Given the description of an element on the screen output the (x, y) to click on. 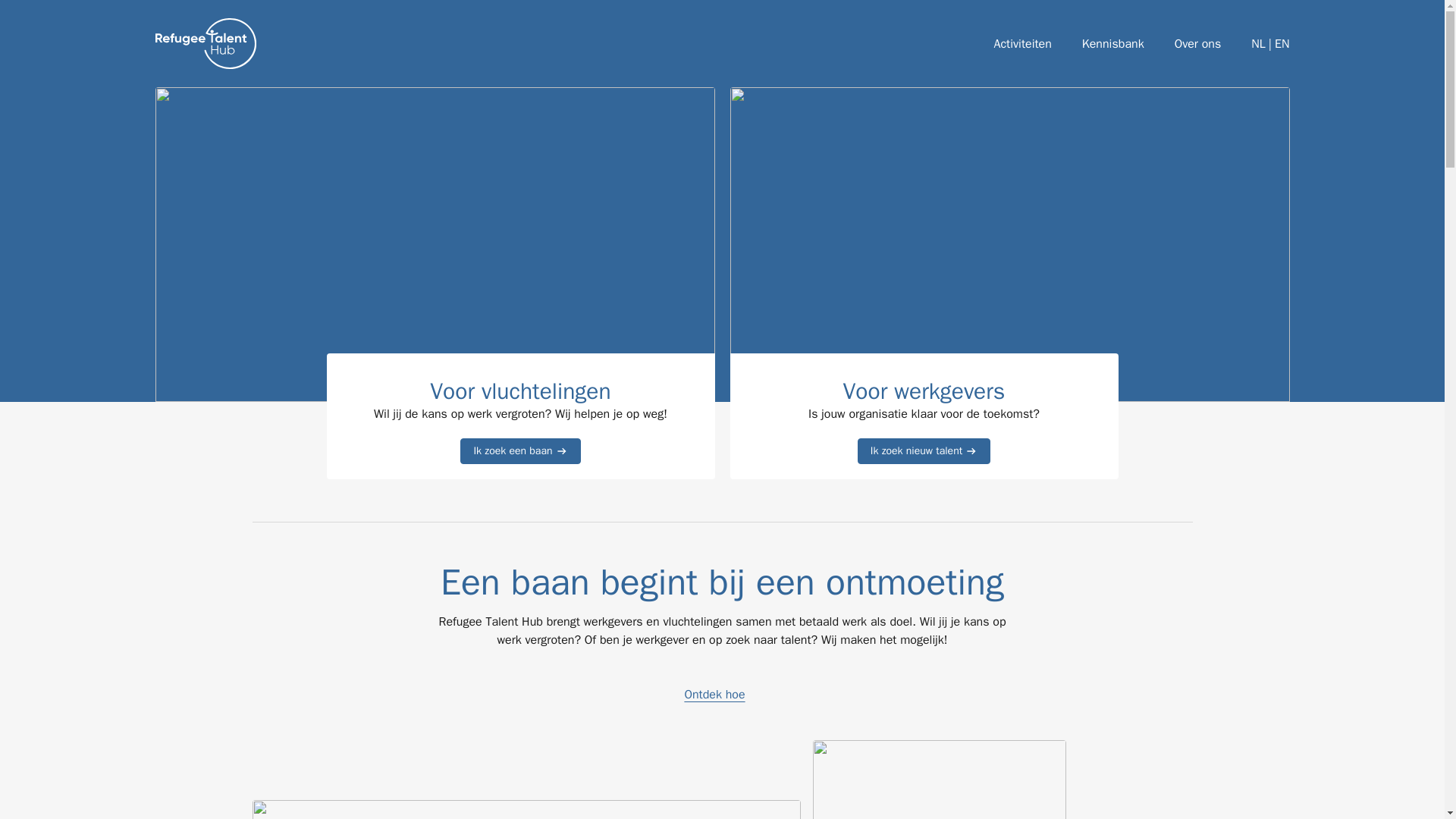
EN (1282, 43)
Ontdek hoe (722, 694)
Ik zoek nieuw talent (923, 451)
Ik zoek een baan (519, 451)
